Given the description of an element on the screen output the (x, y) to click on. 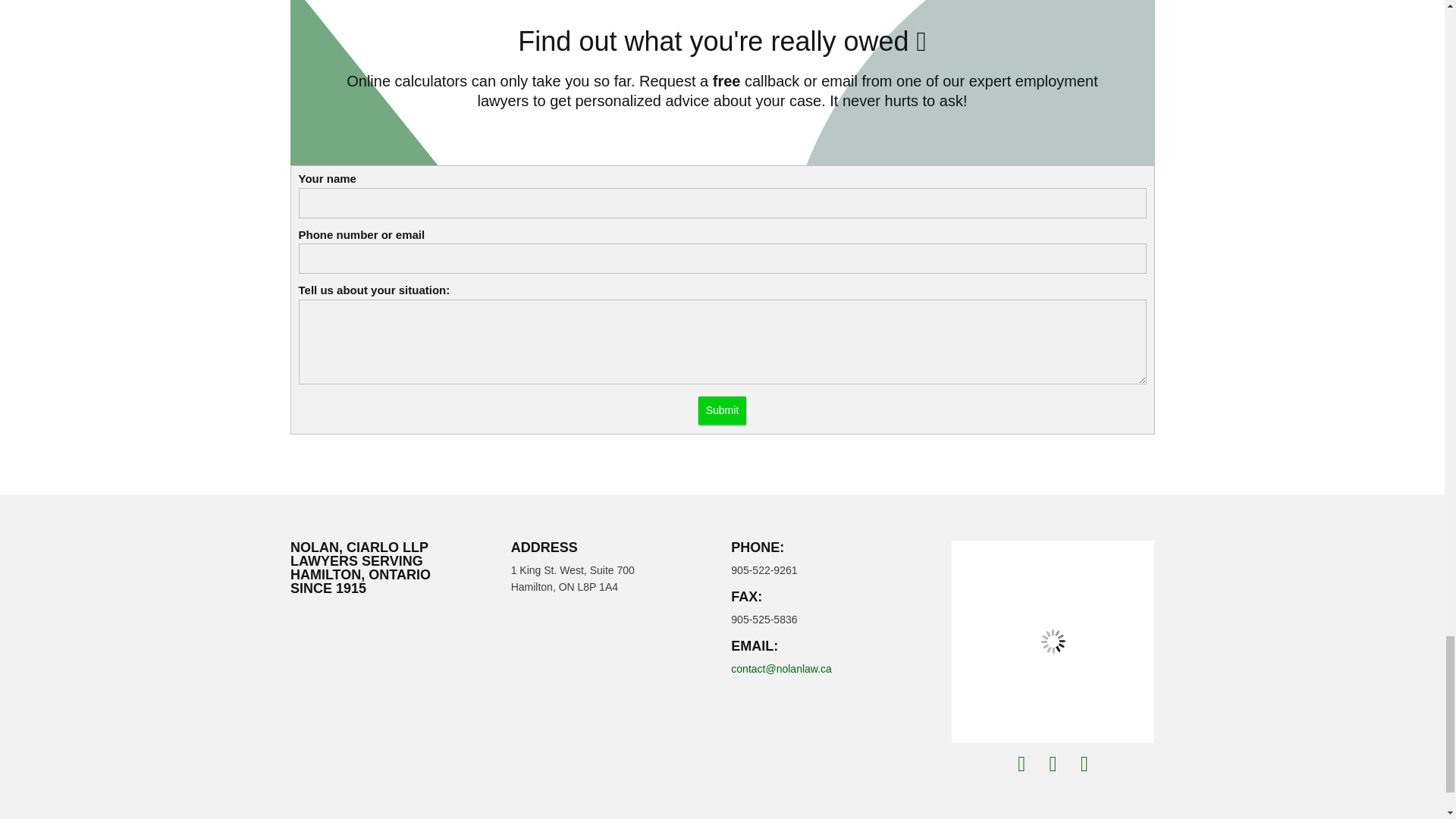
Submit (722, 410)
